Given the description of an element on the screen output the (x, y) to click on. 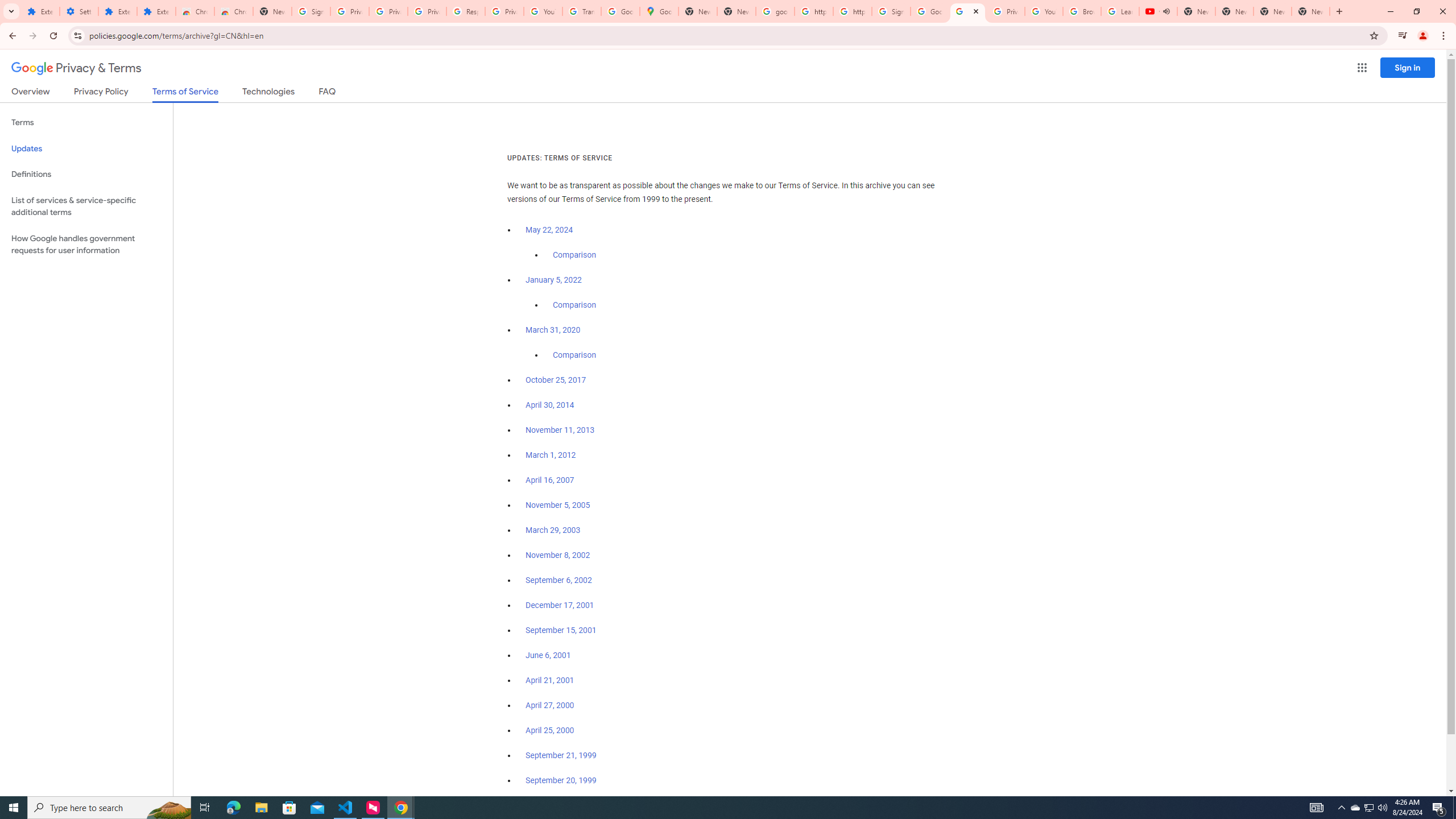
April 21, 2001 (550, 679)
September 15, 2001 (560, 629)
https://scholar.google.com/ (813, 11)
New Tab (1311, 11)
Sign in - Google Accounts (310, 11)
Extensions (117, 11)
